Given the description of an element on the screen output the (x, y) to click on. 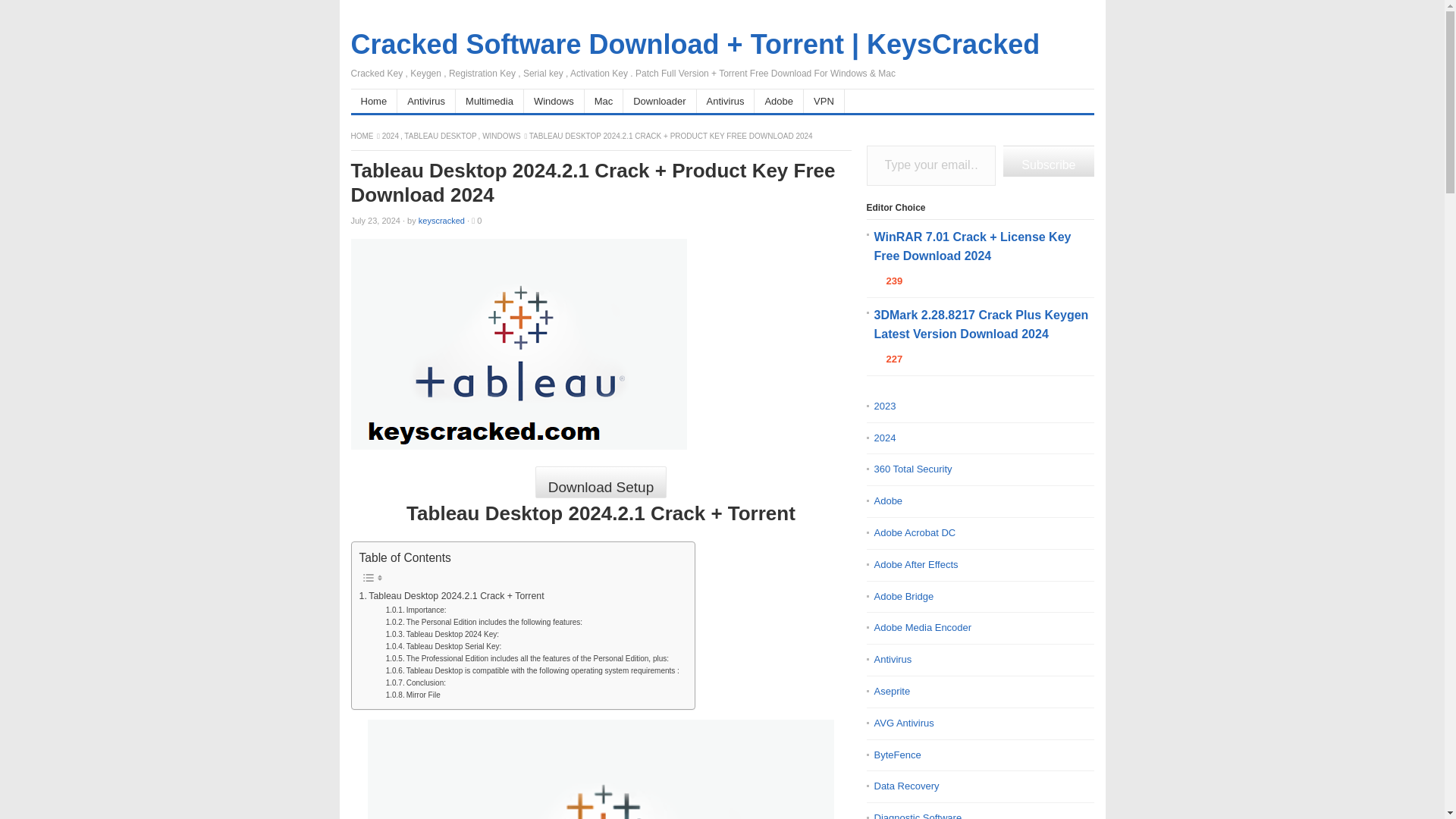
2024 (390, 135)
Mirror File (413, 695)
Mirror File (413, 695)
Mac (604, 101)
Antivirus (726, 101)
VPN (823, 101)
Tableau Desktop 2024 Key: (442, 634)
Download Setup (600, 481)
